Given the description of an element on the screen output the (x, y) to click on. 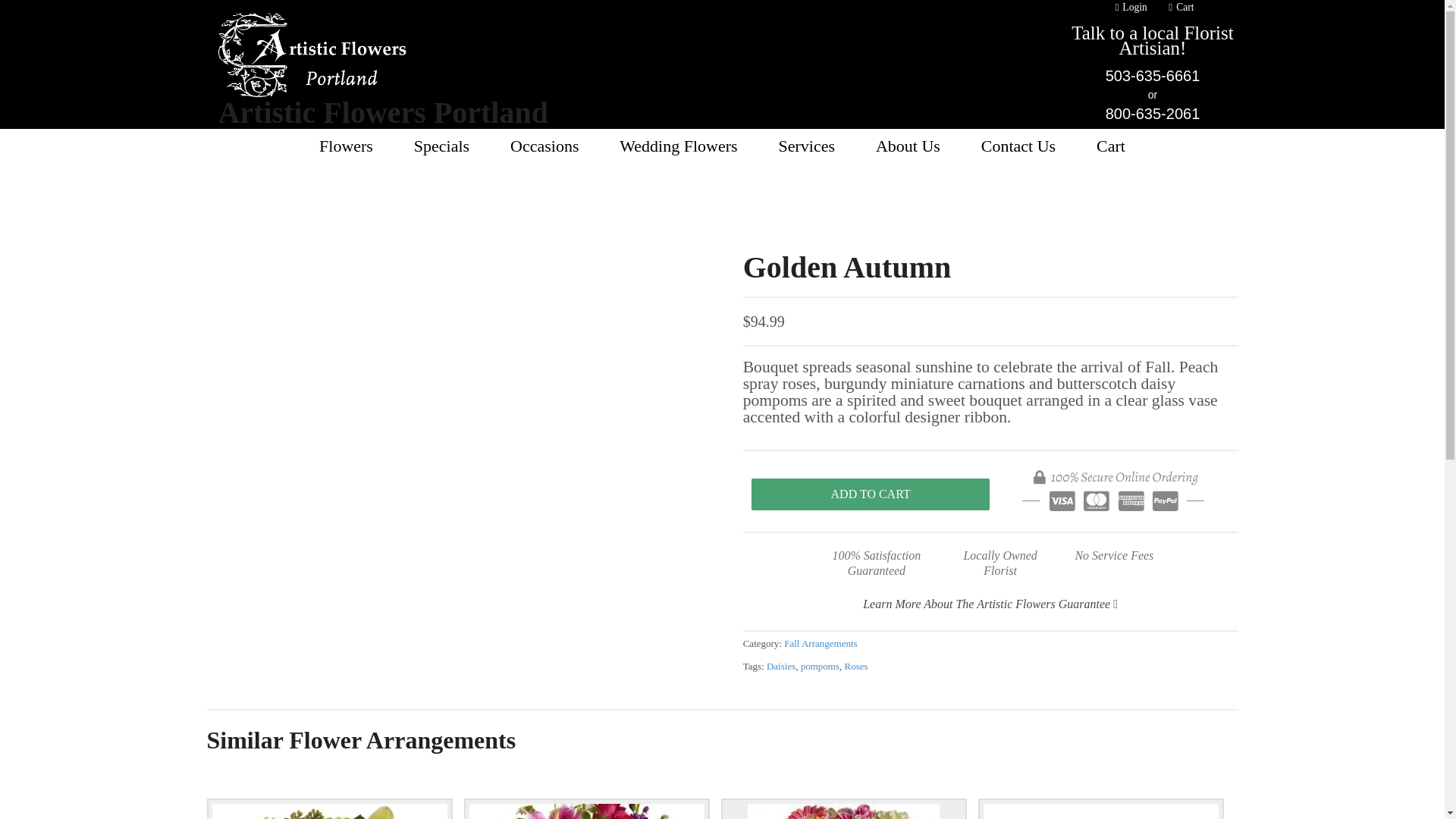
Flower Services Around Portland OR (806, 145)
Login (1128, 10)
Portland Flower Specials (440, 145)
Cart (1179, 10)
Artistic Flowers Portland (383, 112)
Talk to a local Florist Artisian! (1152, 40)
Specials (440, 145)
Portland Flower Artisans and Expert Florists (312, 89)
Portland Flowers (345, 145)
Flowers (345, 145)
